Given the description of an element on the screen output the (x, y) to click on. 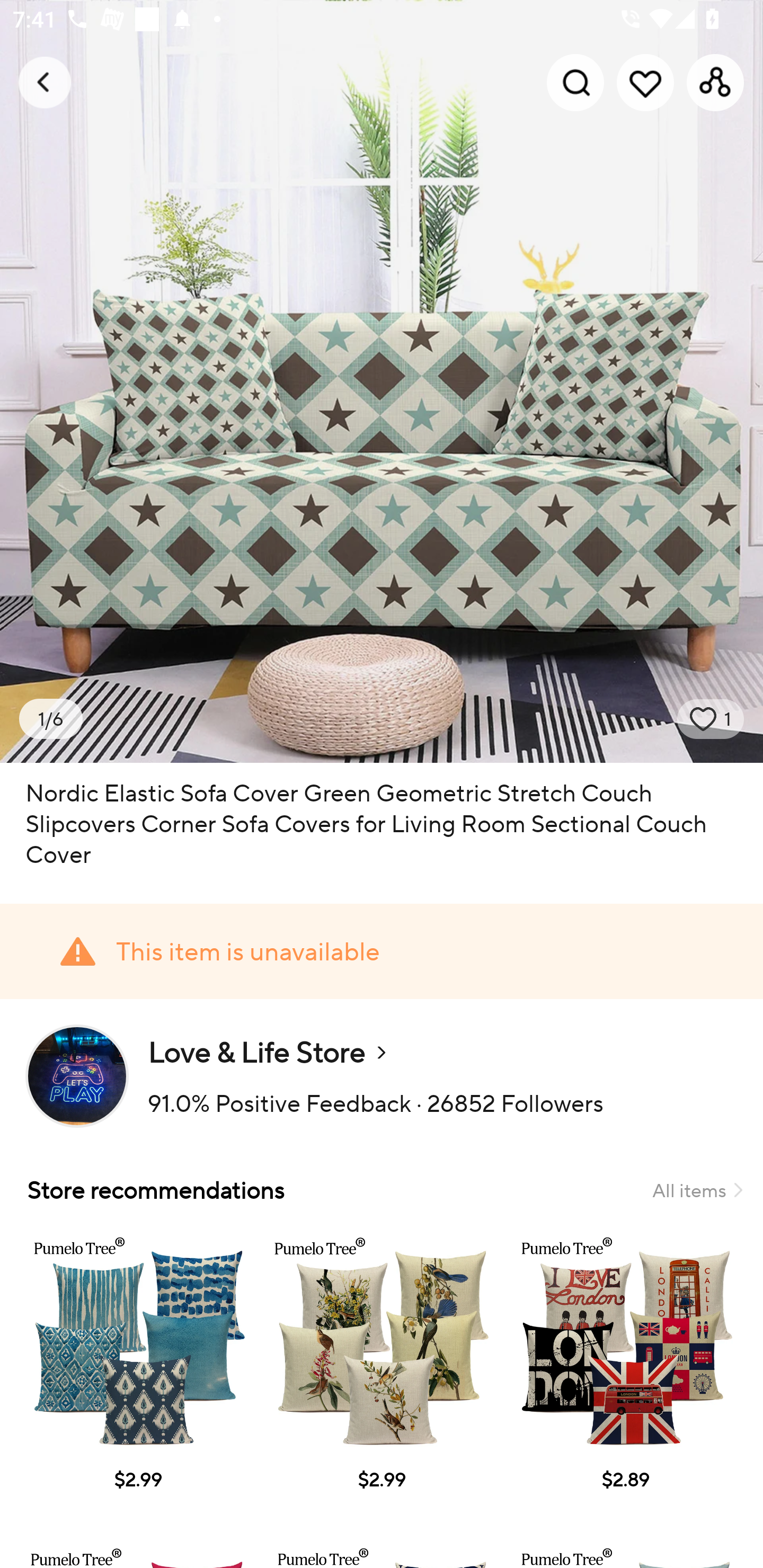
Navigate up (44, 82)
wish state 1 (710, 718)
All items (697, 1190)
$2.99 (137, 1377)
$2.99 (381, 1377)
$2.89 (625, 1377)
